Given the description of an element on the screen output the (x, y) to click on. 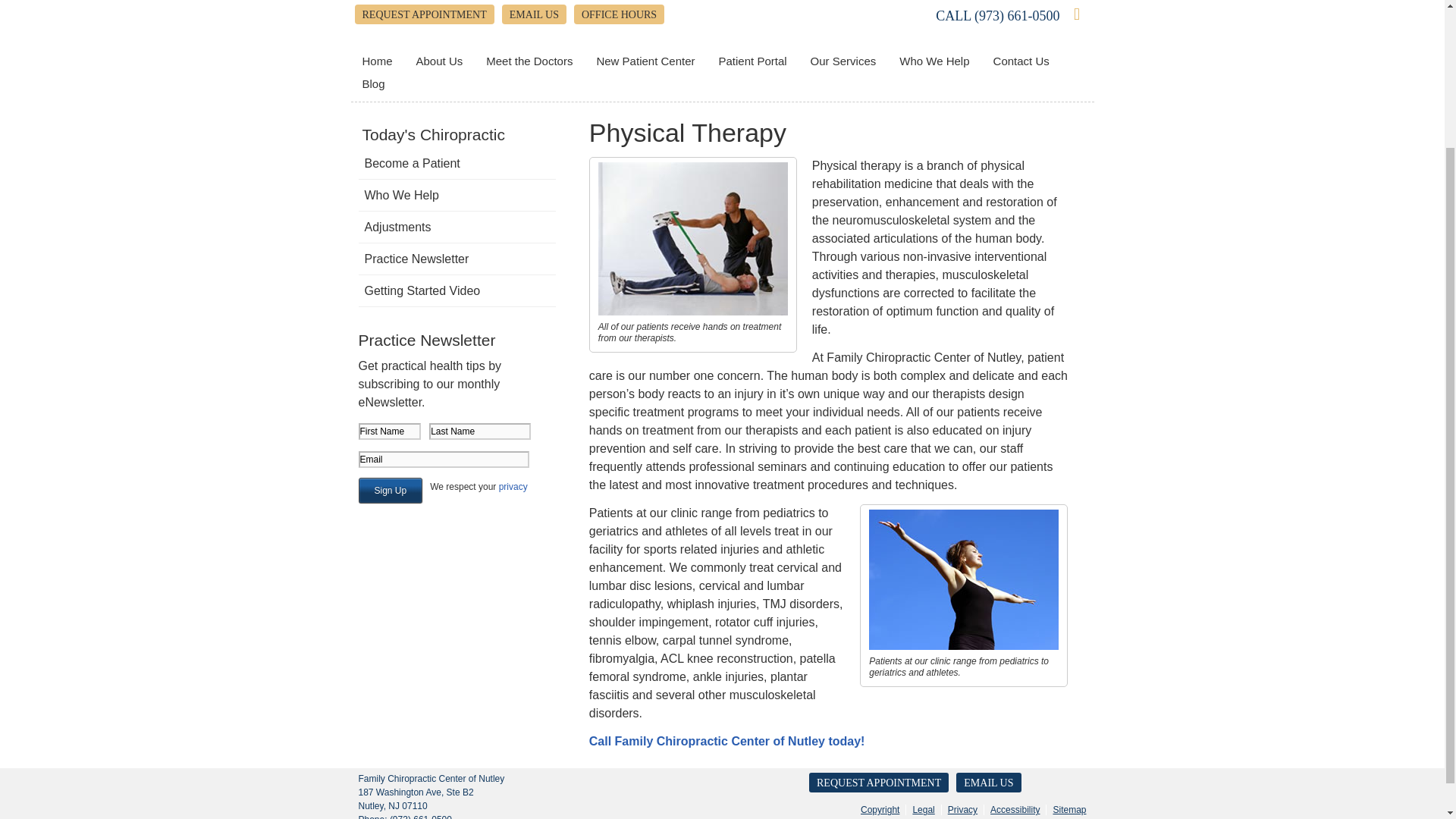
Contact (988, 782)
Who We Help (934, 60)
About Us (440, 60)
New Patient Center (645, 60)
Meet the Doctors (529, 60)
Last Name (480, 431)
Patient Portal (753, 60)
Our Services (843, 60)
Sign Up (390, 490)
Home (377, 60)
